Given the description of an element on the screen output the (x, y) to click on. 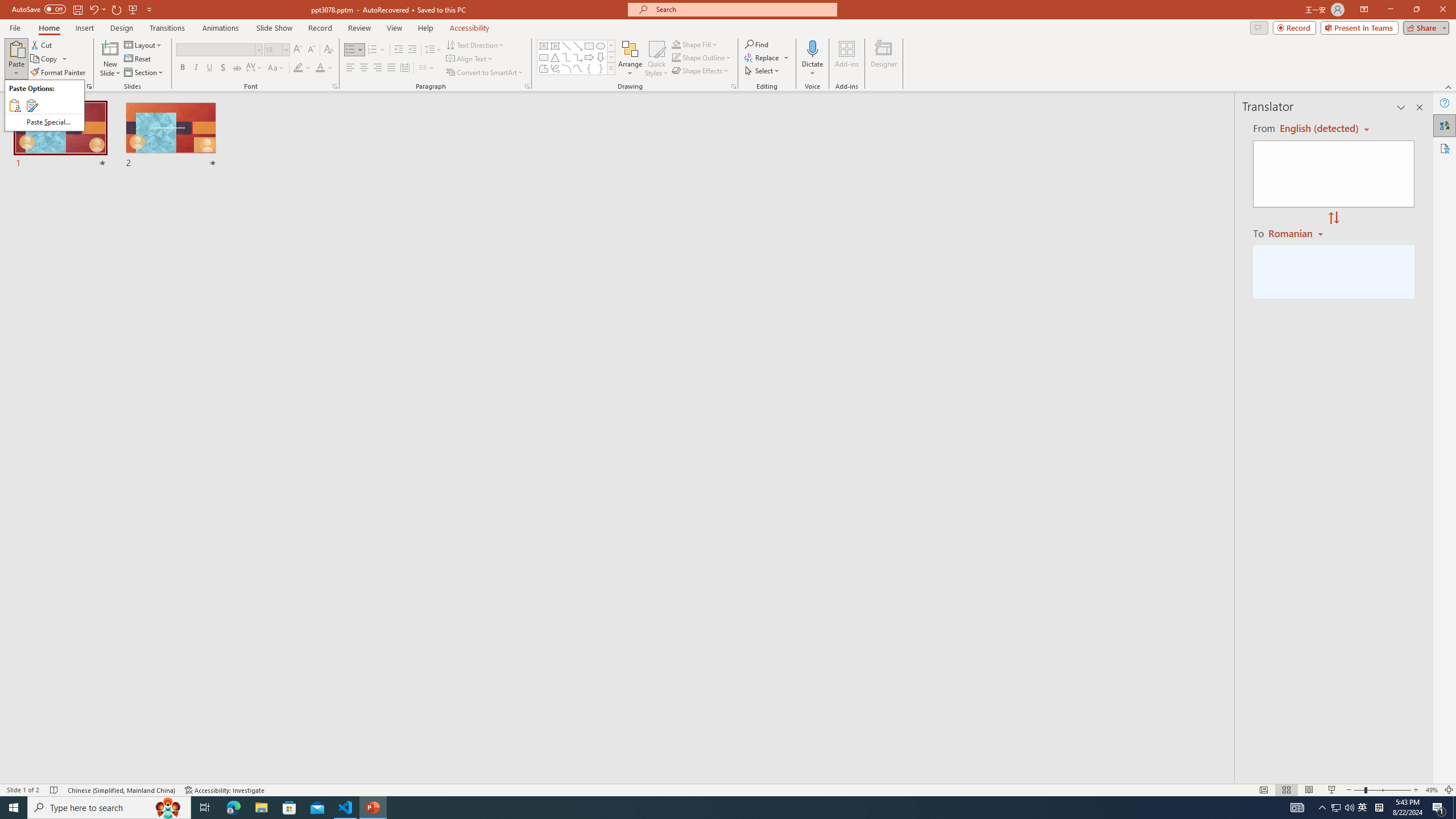
Line (566, 45)
Right Brace (600, 68)
Shape Effects (700, 69)
AutomationID: ShapesInsertGallery (576, 57)
Freeform: Scribble (554, 68)
Character Spacing (254, 67)
Section (144, 72)
AutomationID: 4105 (1297, 807)
Zoom 49% (1431, 790)
Tray Input Indicator - Chinese (Simplified, China) (1378, 807)
Shapes (611, 68)
